Given the description of an element on the screen output the (x, y) to click on. 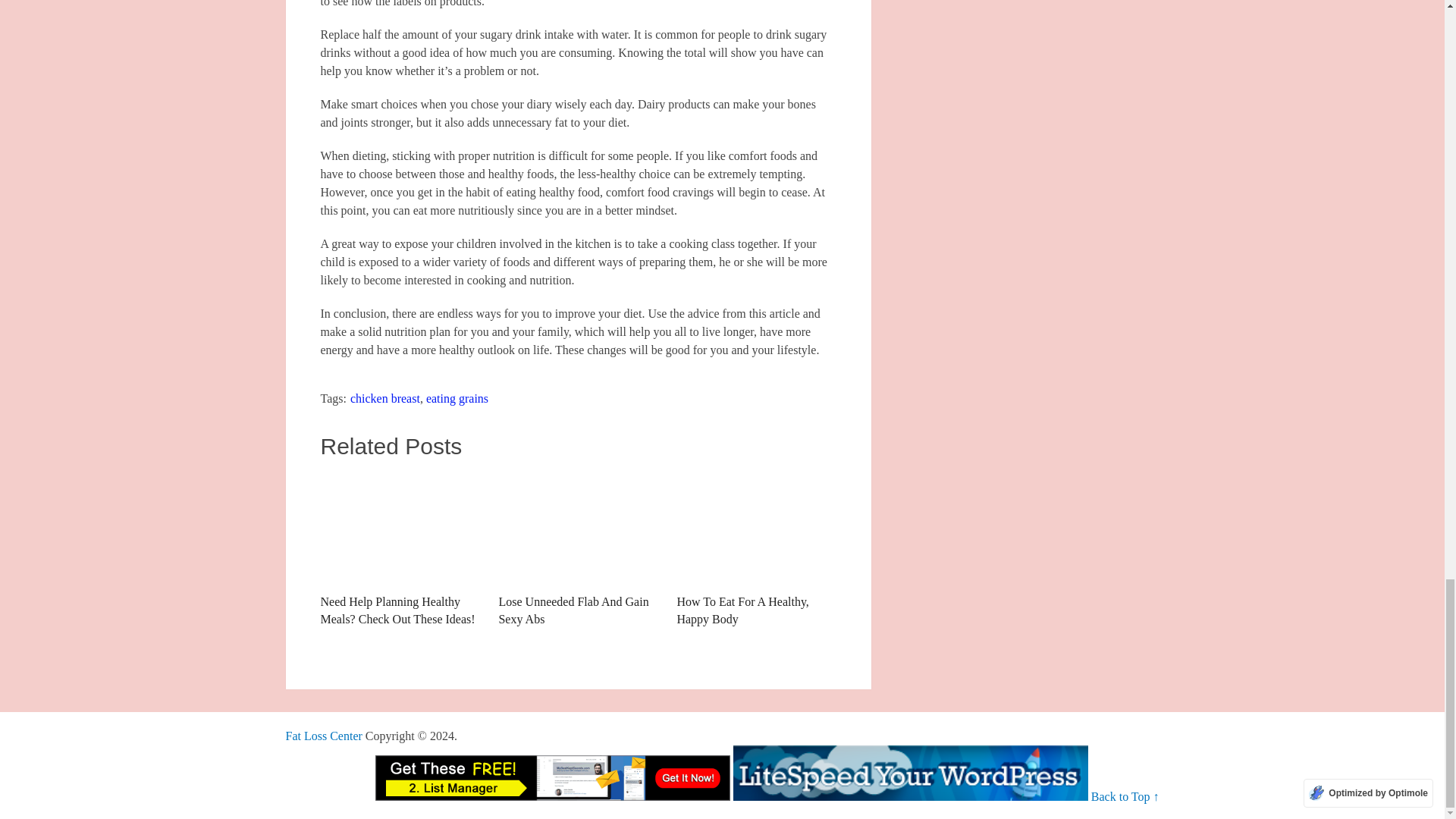
Lose Unneeded Flab And Gain Sexy Abs (577, 549)
Need Help Planning Healthy Meals? Check Out These Ideas! (399, 549)
How To Eat For A Healthy, Happy Body (756, 528)
Need Help Planning Healthy Meals? Check Out These Ideas! (399, 528)
Lose Unneeded Flab And Gain Sexy Abs (577, 528)
You may find help in The Fat Loss Center. (323, 735)
Need Help Planning Healthy Meals?  Check Out These Ideas! (399, 549)
Lose Unneeded Flab And Gain Sexy Abs (577, 549)
How To Eat For A Healthy, Happy Body (756, 549)
chicken breast (385, 398)
eating grains (456, 398)
Fat Loss Center (323, 735)
How To Eat For A Healthy, Happy Body (756, 549)
